Given the description of an element on the screen output the (x, y) to click on. 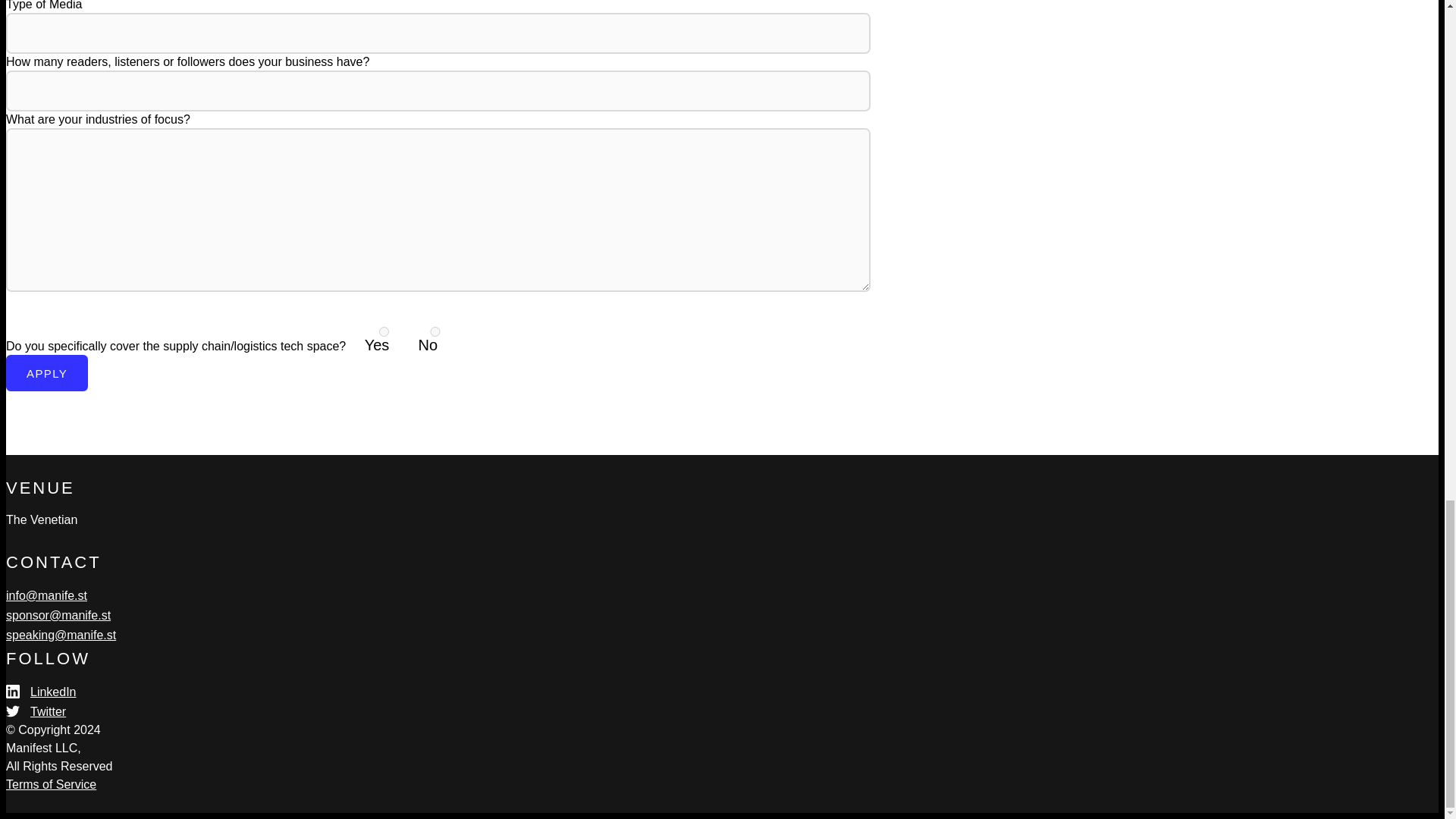
Apply (46, 372)
Terms of Service (50, 784)
Twitter (35, 711)
No (435, 331)
LinkedIn (41, 692)
Yes (384, 331)
Apply (46, 372)
